Given the description of an element on the screen output the (x, y) to click on. 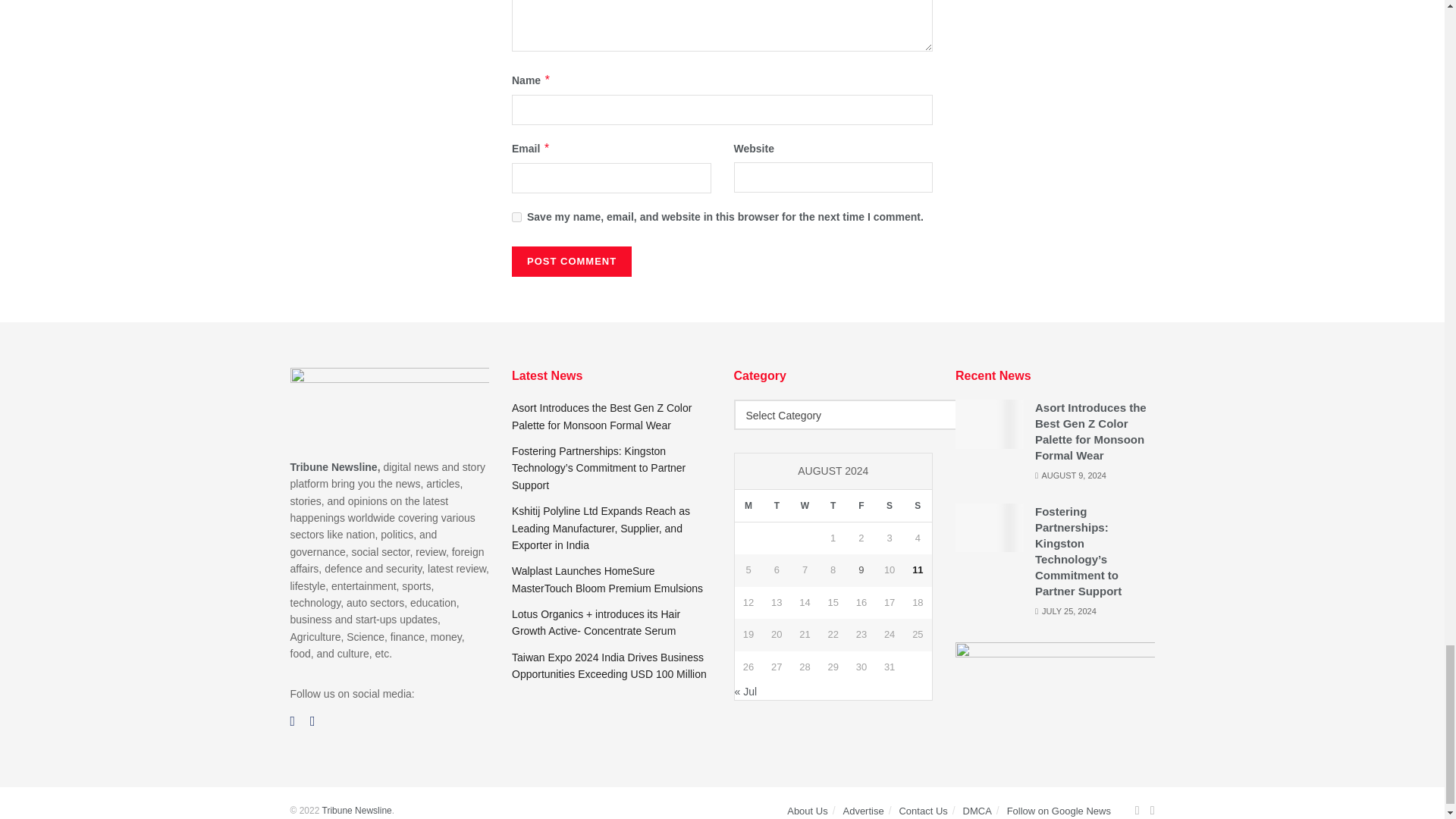
Post Comment (571, 261)
yes (516, 216)
The News Guru (356, 810)
